Given the description of an element on the screen output the (x, y) to click on. 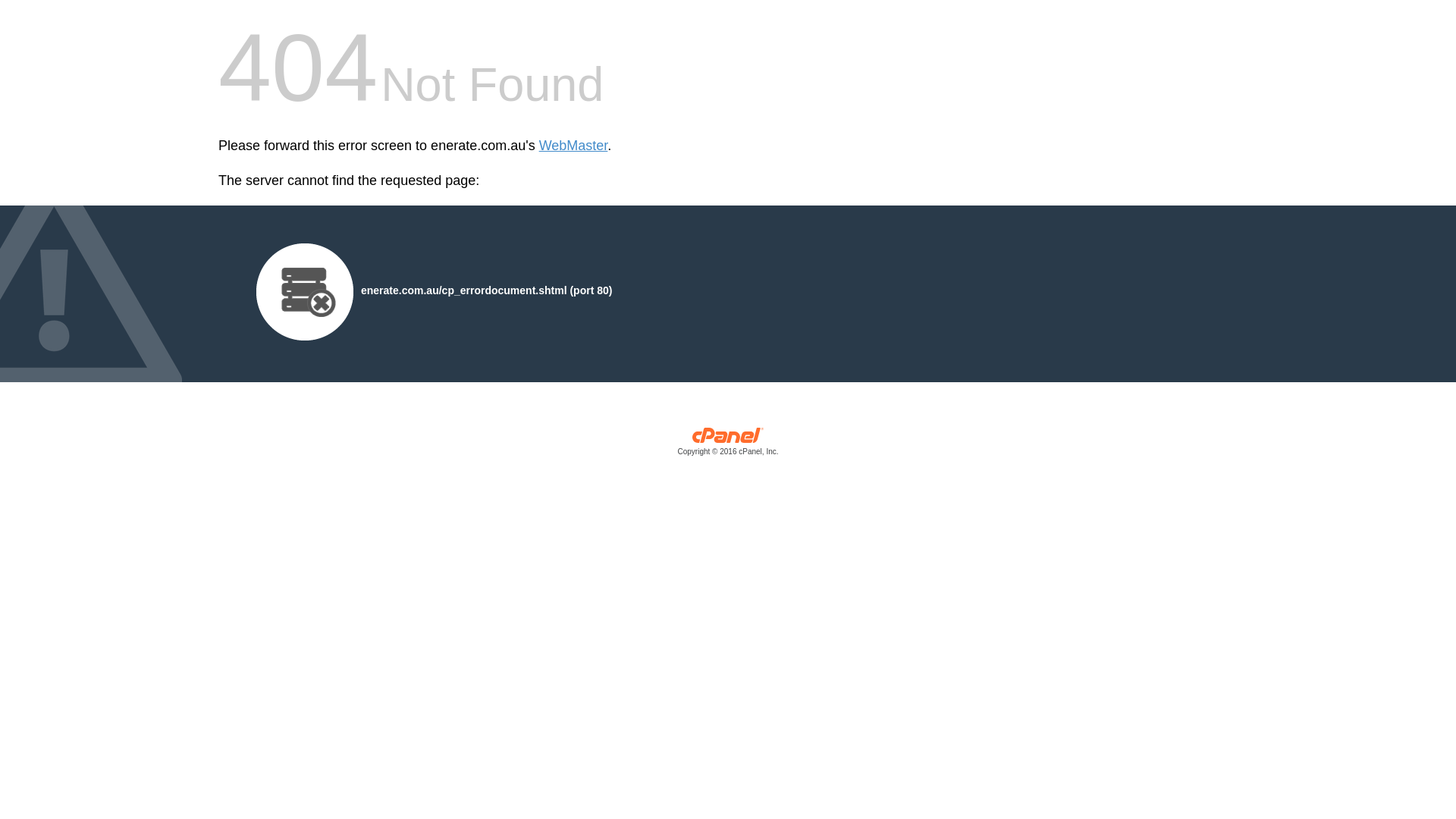
WebMaster Element type: text (573, 145)
